Given the description of an element on the screen output the (x, y) to click on. 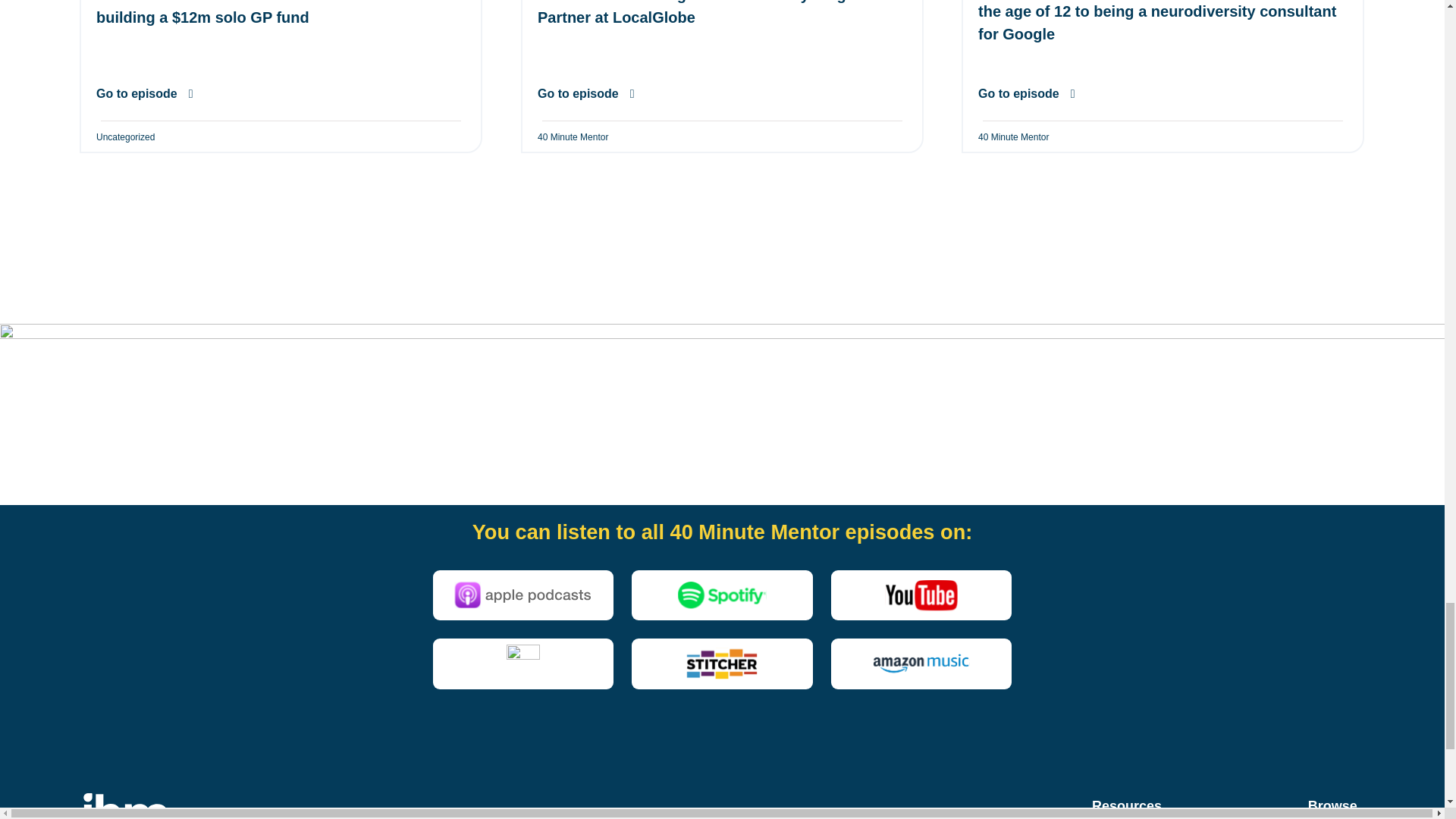
Go to episode (1026, 93)
Go to episode (144, 93)
40 Minute Mentor (1013, 137)
Uncategorized (125, 137)
40 Minute Mentor (572, 137)
Go to episode (585, 93)
